Given the description of an element on the screen output the (x, y) to click on. 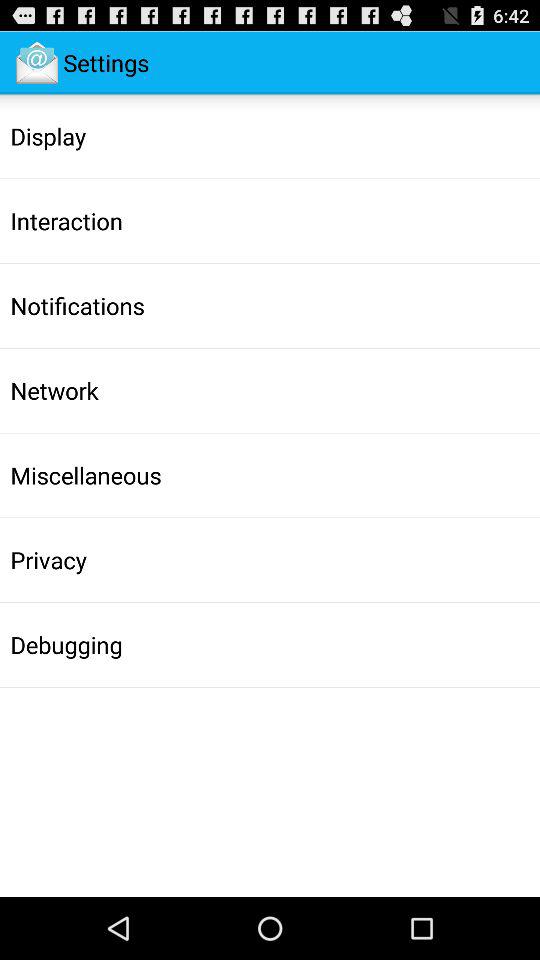
choose the app below miscellaneous app (48, 560)
